Given the description of an element on the screen output the (x, y) to click on. 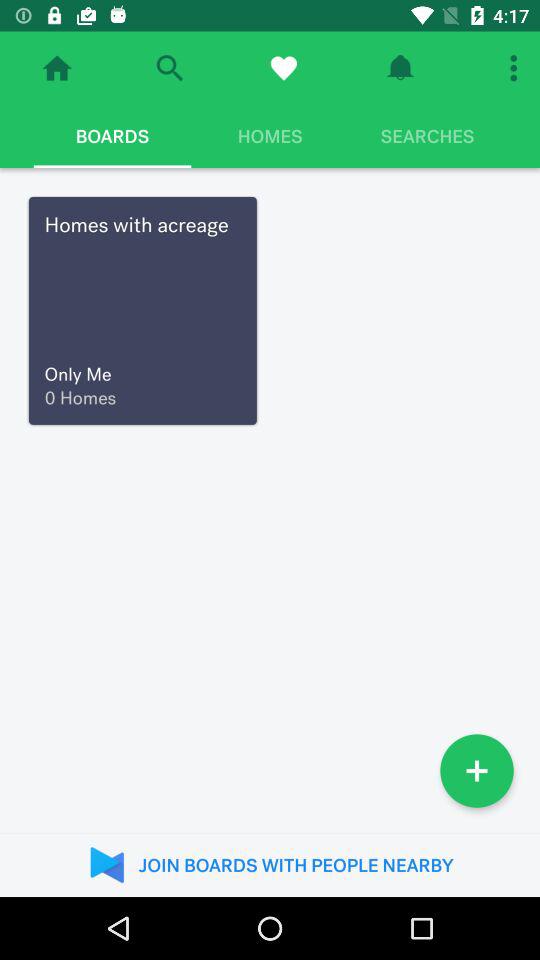
open item above the join boards with (477, 770)
